Given the description of an element on the screen output the (x, y) to click on. 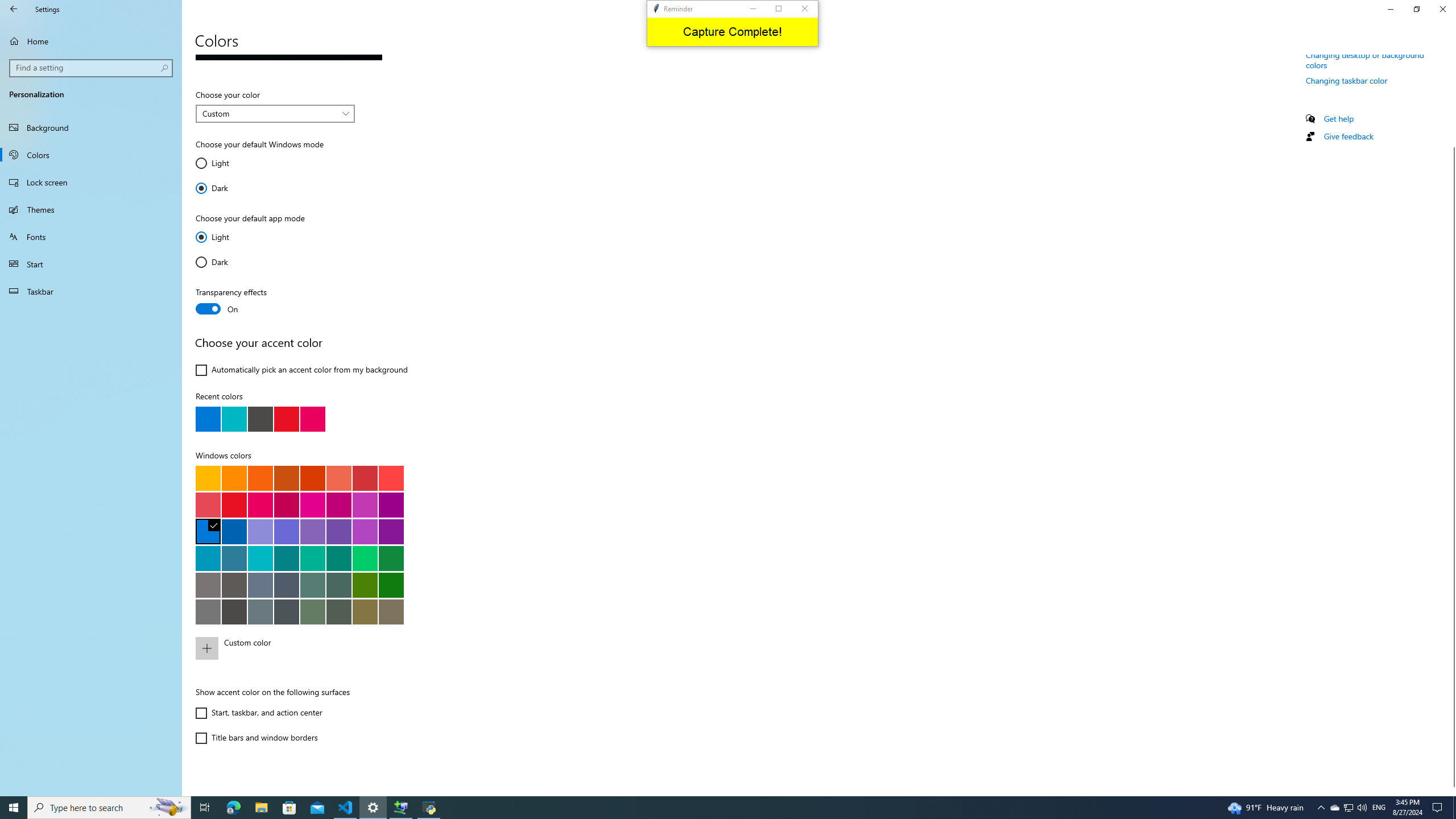
Camouflage desert (364, 611)
Cool blue (234, 557)
Gray brown (234, 584)
Iris pastel (311, 531)
Orchid light (364, 504)
Red (234, 504)
Vertical Small Decrease (1451, 58)
Default blue (208, 531)
Custom (269, 113)
Rust (311, 477)
Moss (338, 584)
Vertical Large Decrease (1451, 105)
Dark (229, 262)
